Given the description of an element on the screen output the (x, y) to click on. 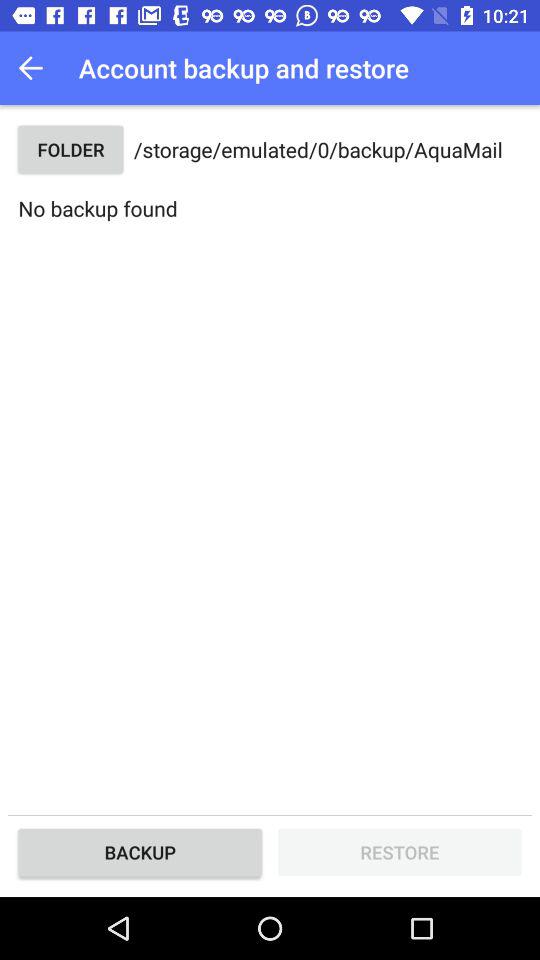
turn off icon to the left of the account backup and item (36, 68)
